Given the description of an element on the screen output the (x, y) to click on. 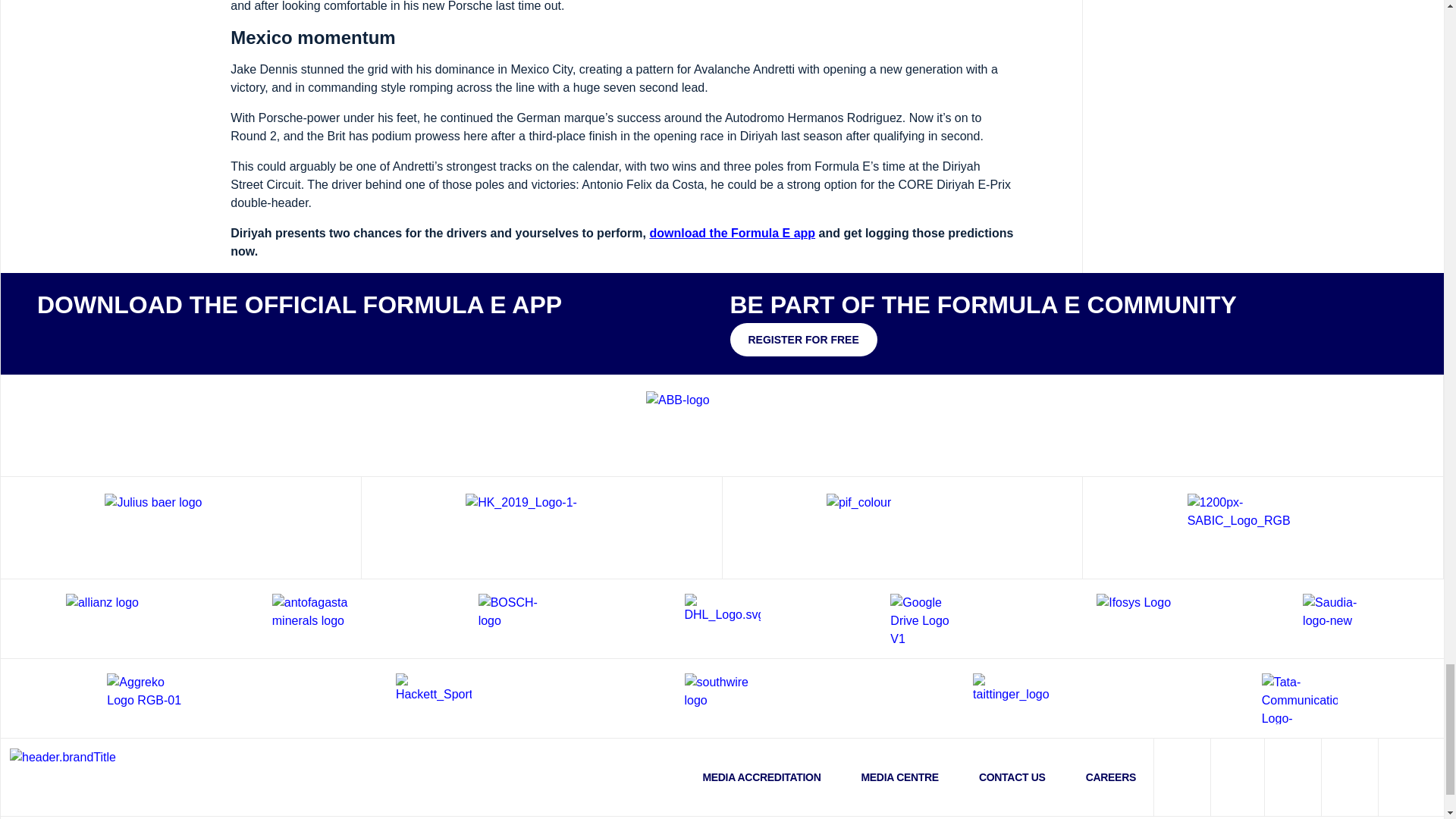
Visit the App Store (81, 337)
Technical Partner (541, 527)
Global Partner (180, 527)
Visit the Google Play Store (175, 337)
Title Partner (721, 425)
Register for free (802, 339)
Public Investment Fund (902, 527)
